Given the description of an element on the screen output the (x, y) to click on. 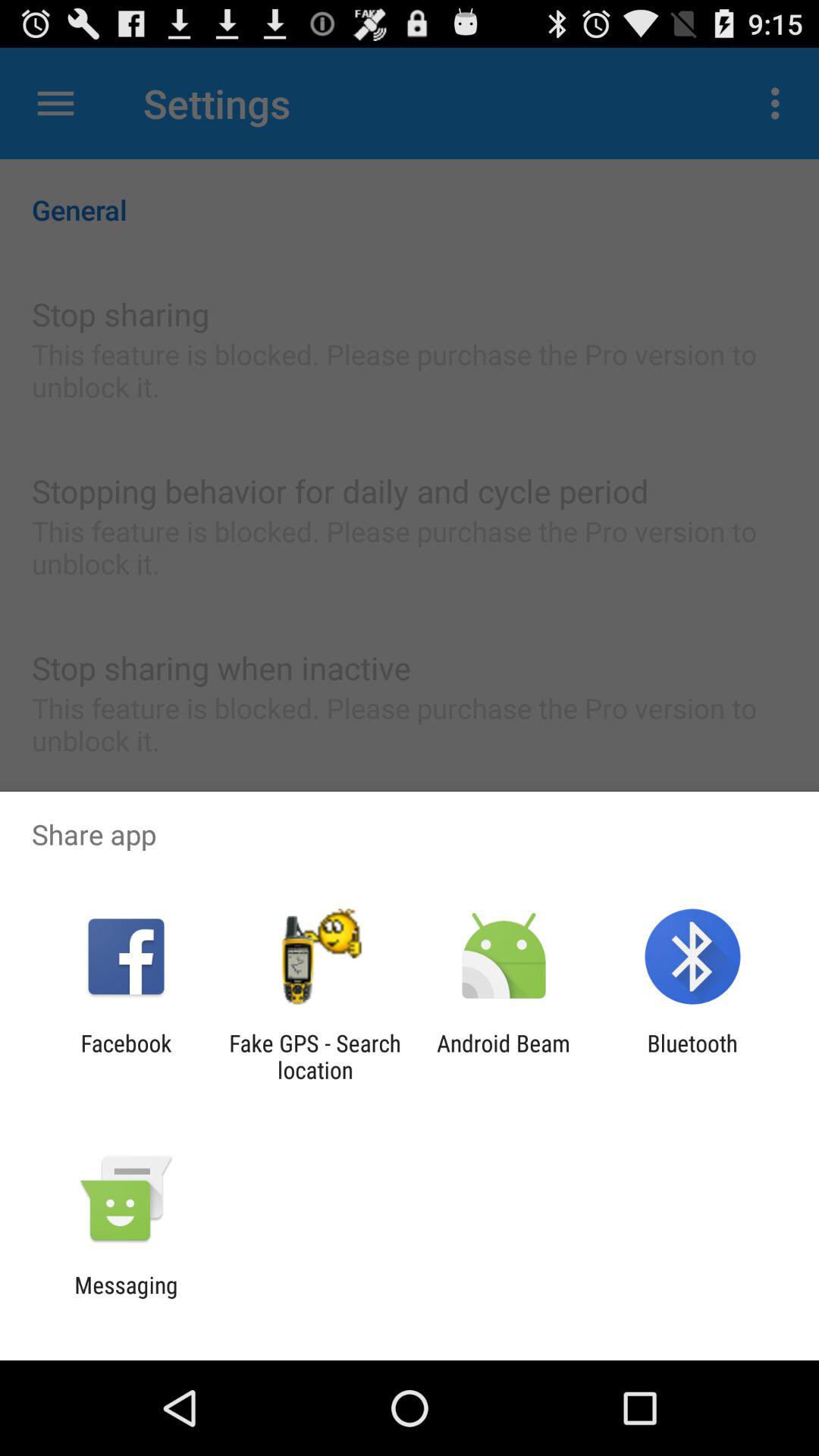
flip to the android beam (503, 1056)
